Given the description of an element on the screen output the (x, y) to click on. 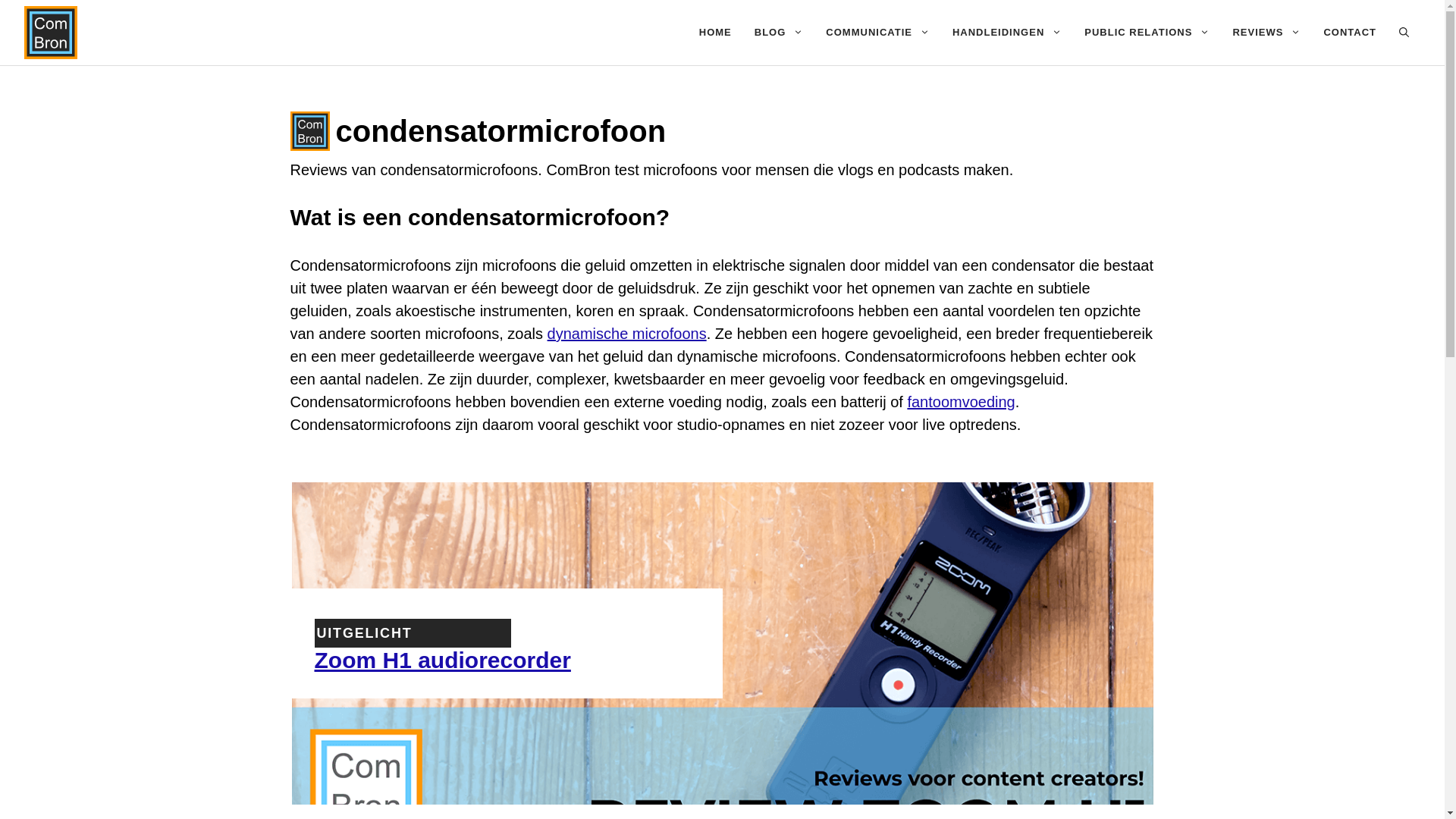
COMMUNICATIE Element type: text (877, 32)
HANDLEIDINGEN Element type: text (1007, 32)
REVIEWS Element type: text (1265, 32)
fantoomvoeding Element type: text (960, 401)
dynamische microfoons Element type: text (626, 333)
CONTACT Element type: text (1349, 32)
BLOG Element type: text (779, 32)
PUBLIC RELATIONS Element type: text (1146, 32)
HOME Element type: text (715, 32)
Zoom H1 audiorecorder Element type: text (441, 659)
